Given the description of an element on the screen output the (x, y) to click on. 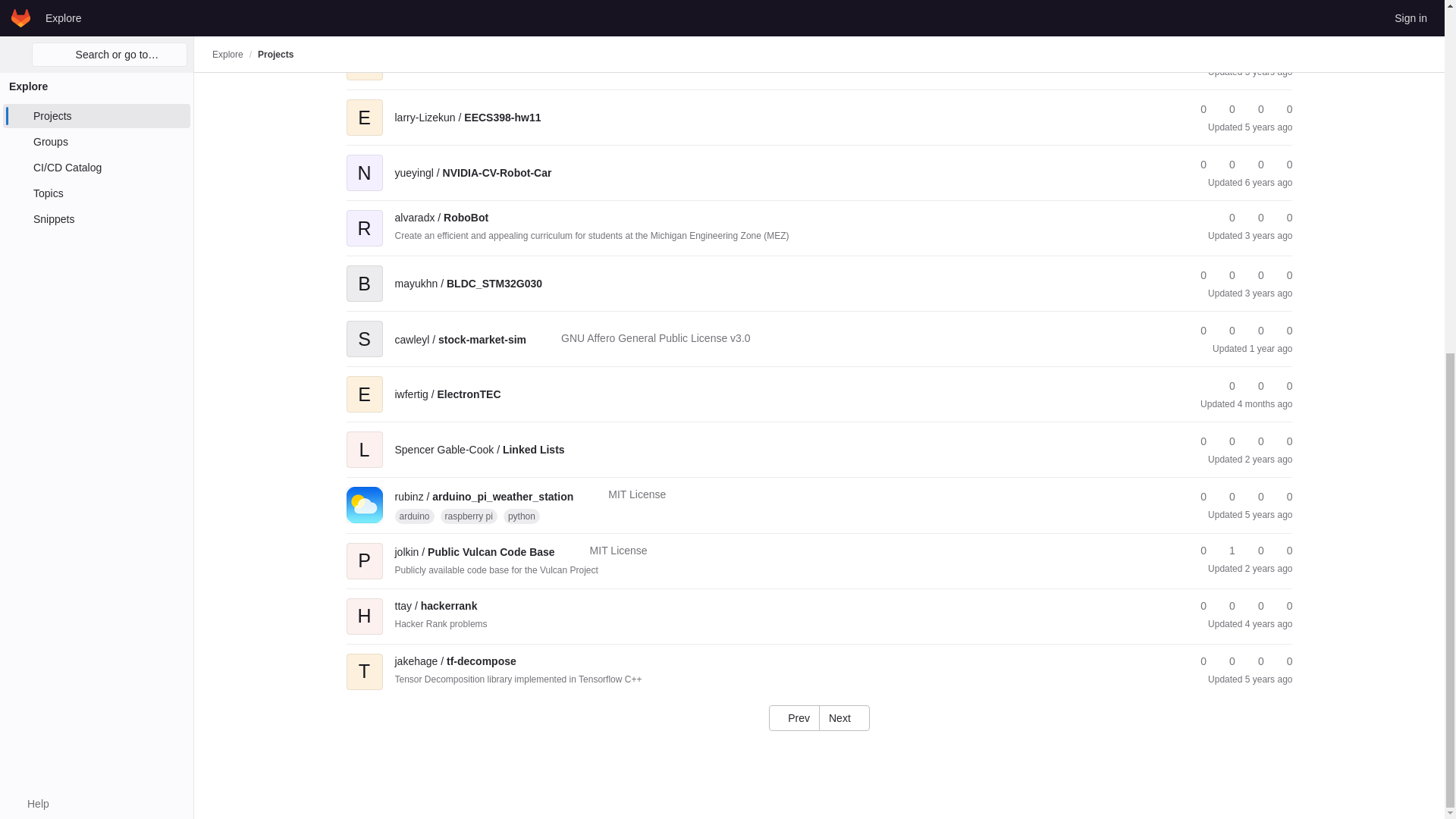
Help (30, 187)
